Given the description of an element on the screen output the (x, y) to click on. 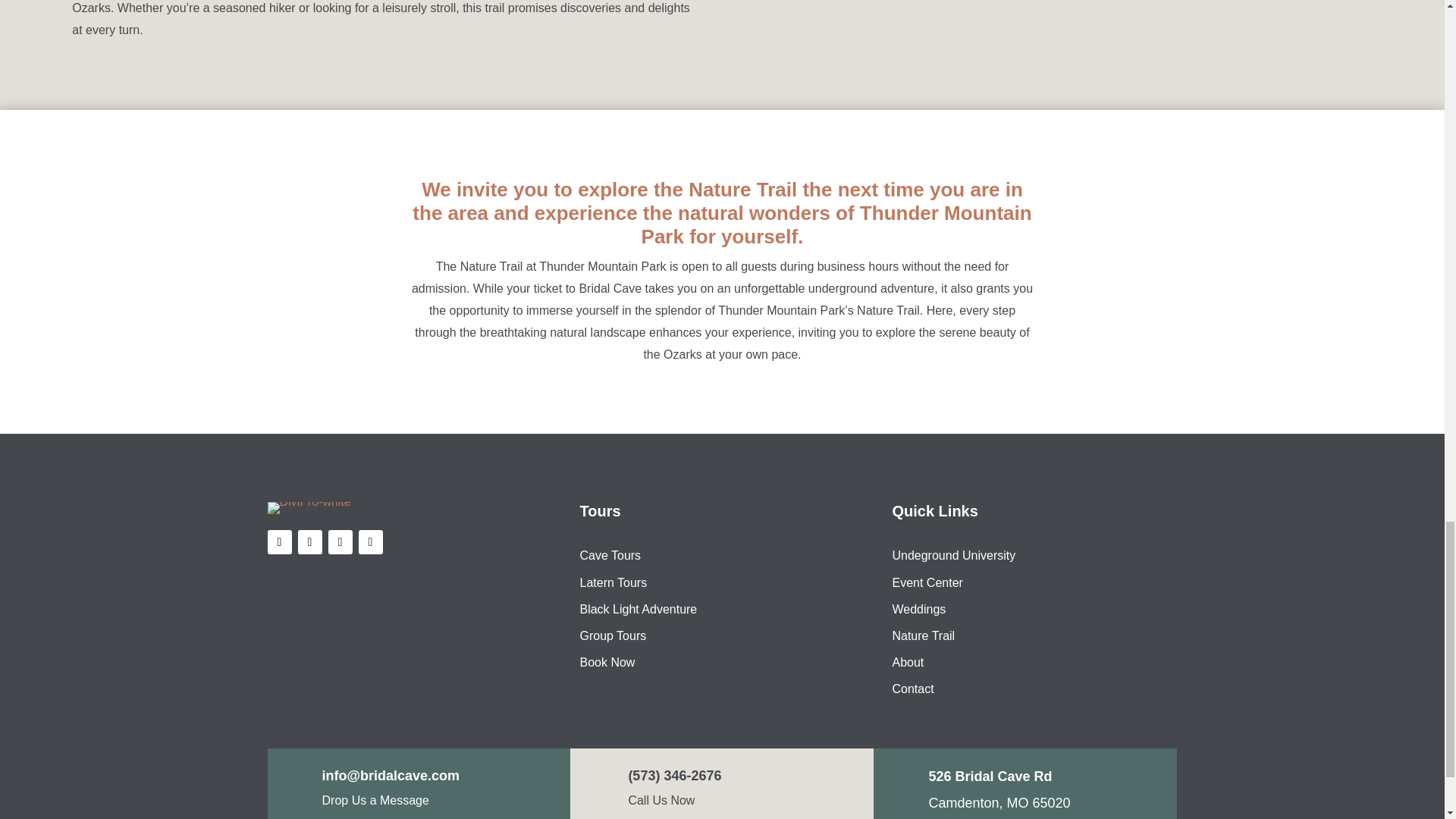
Weddings (917, 608)
Follow on Facebook (278, 541)
Cave Tours (609, 554)
Undeground University (952, 554)
Book Now (606, 662)
Follow on Instagram (339, 541)
Group Tours (612, 635)
Follow on LinkedIn (369, 541)
Nature Trail (923, 635)
About (907, 662)
